Given the description of an element on the screen output the (x, y) to click on. 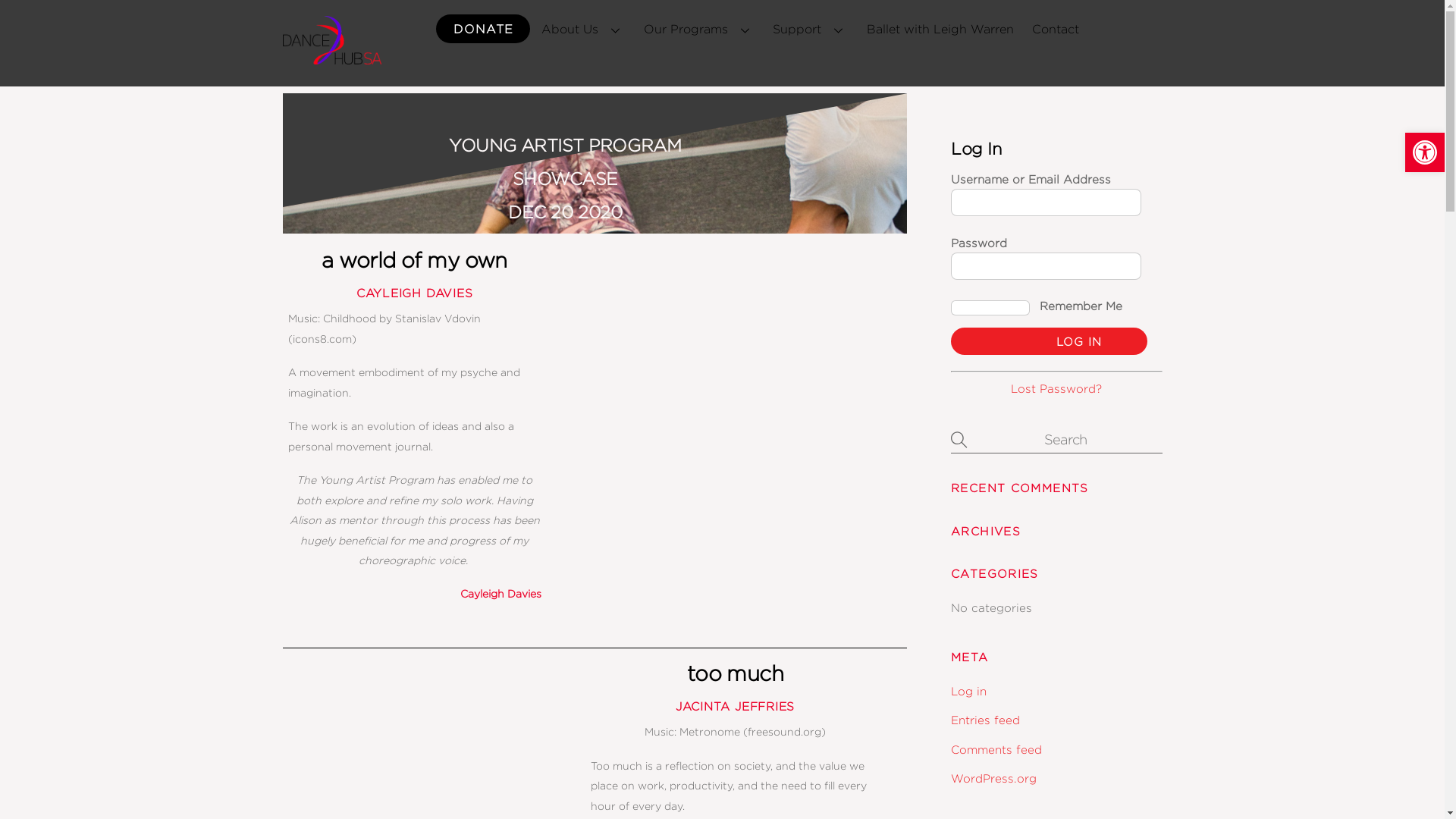
Dance Hub SA Element type: hover (331, 56)
DONATE Element type: text (483, 28)
Ballet with Leigh Warren Element type: text (939, 29)
Lost Password? Element type: text (1055, 388)
Open toolbar
Accessibility Tools Element type: text (1424, 152)
a world of my own by Cayleigh Davies Element type: hover (734, 381)
Dance Hub SA_Colour logo transparent(1) Element type: hover (331, 39)
Support Element type: text (810, 29)
Contact Element type: text (1054, 29)
Log In Element type: text (1048, 340)
WordPress.org Element type: text (993, 777)
Search Element type: hover (1055, 438)
Log in Element type: text (968, 690)
Comments feed Element type: text (995, 749)
Our Programs Element type: text (699, 29)
Entries feed Element type: text (984, 719)
About Us Element type: text (582, 29)
